Given the description of an element on the screen output the (x, y) to click on. 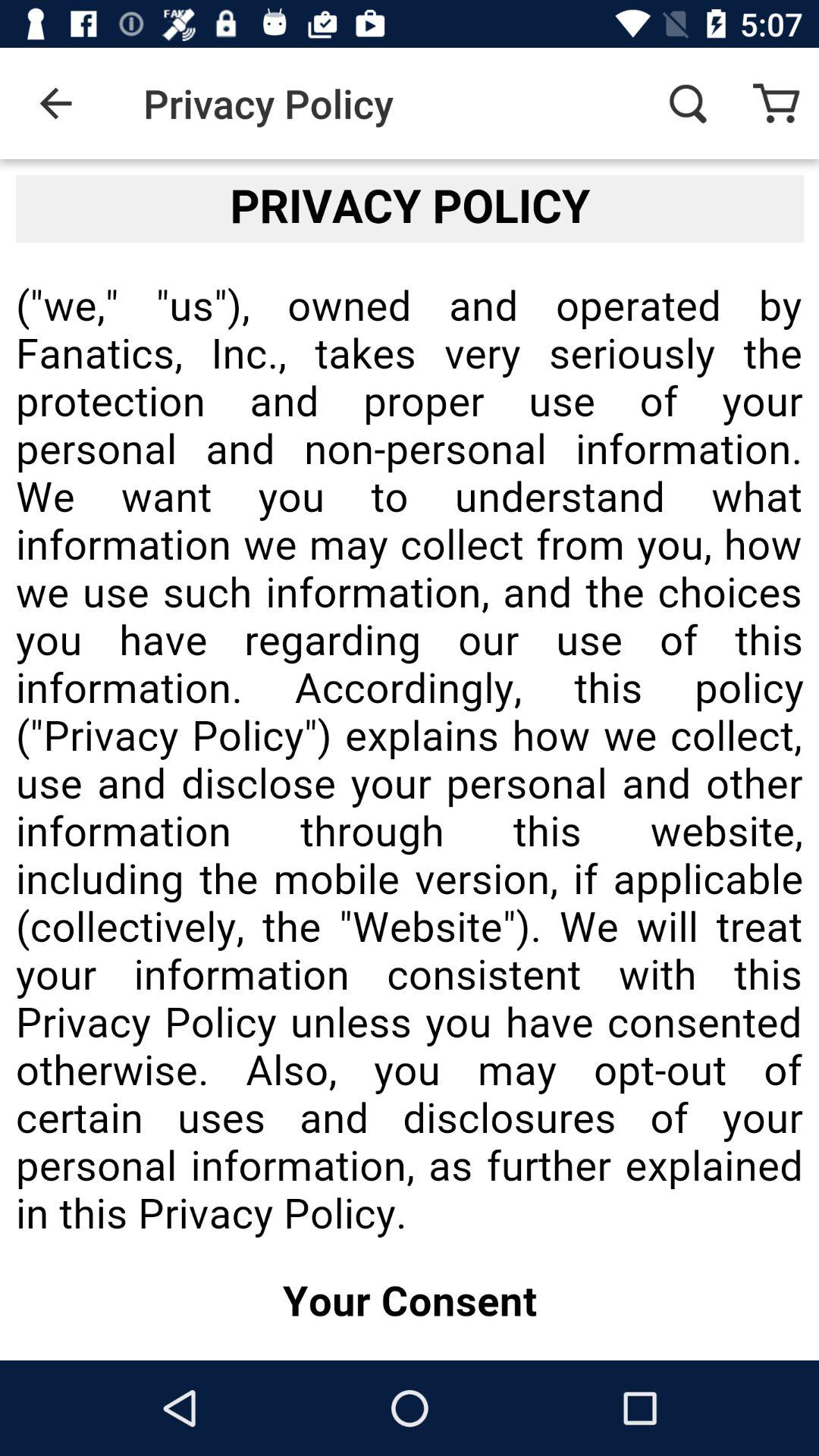
consent to privacy policy (409, 759)
